Given the description of an element on the screen output the (x, y) to click on. 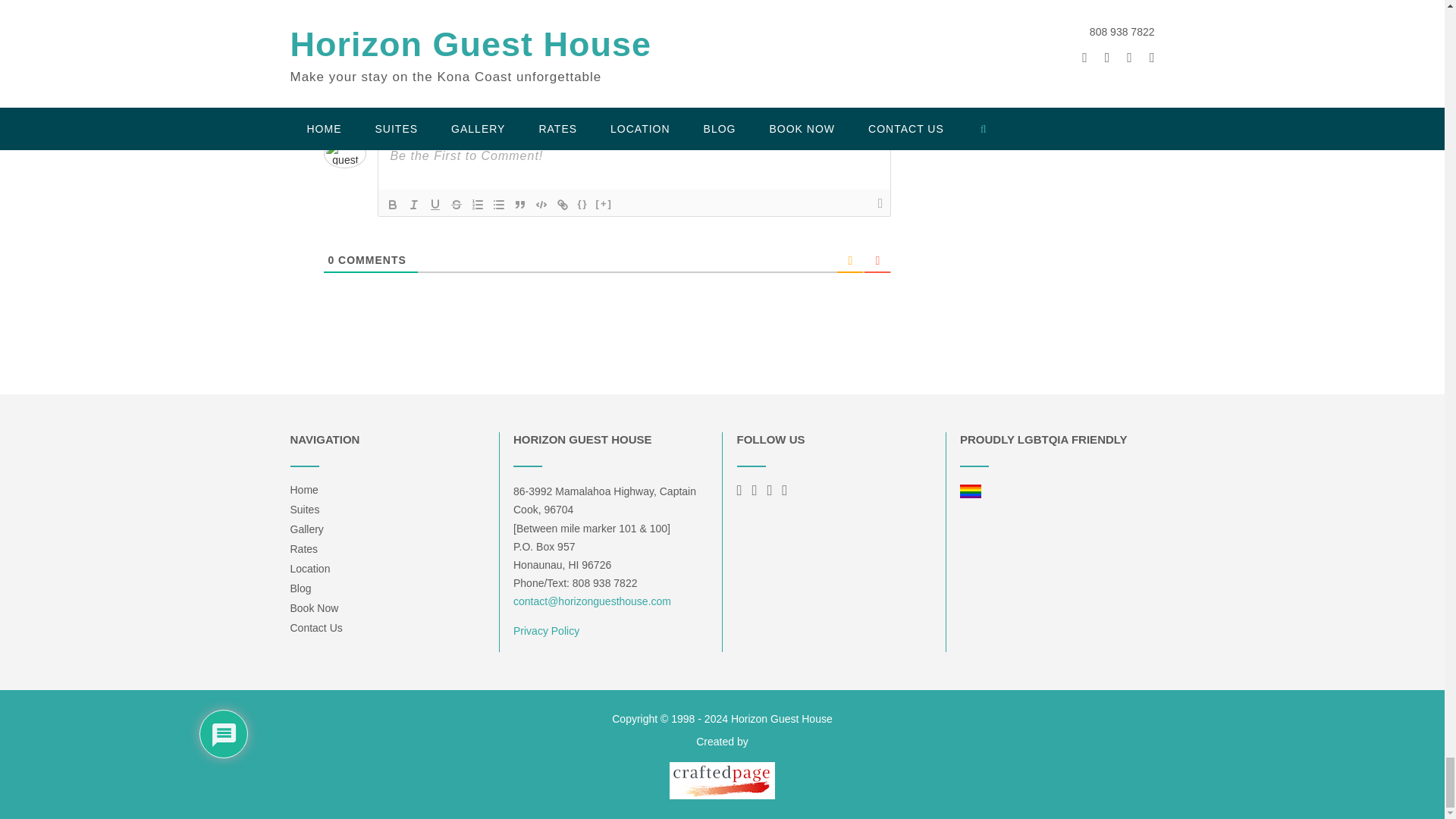
Underline (435, 204)
Strike (456, 204)
Bold (392, 204)
Italic (414, 204)
